Given the description of an element on the screen output the (x, y) to click on. 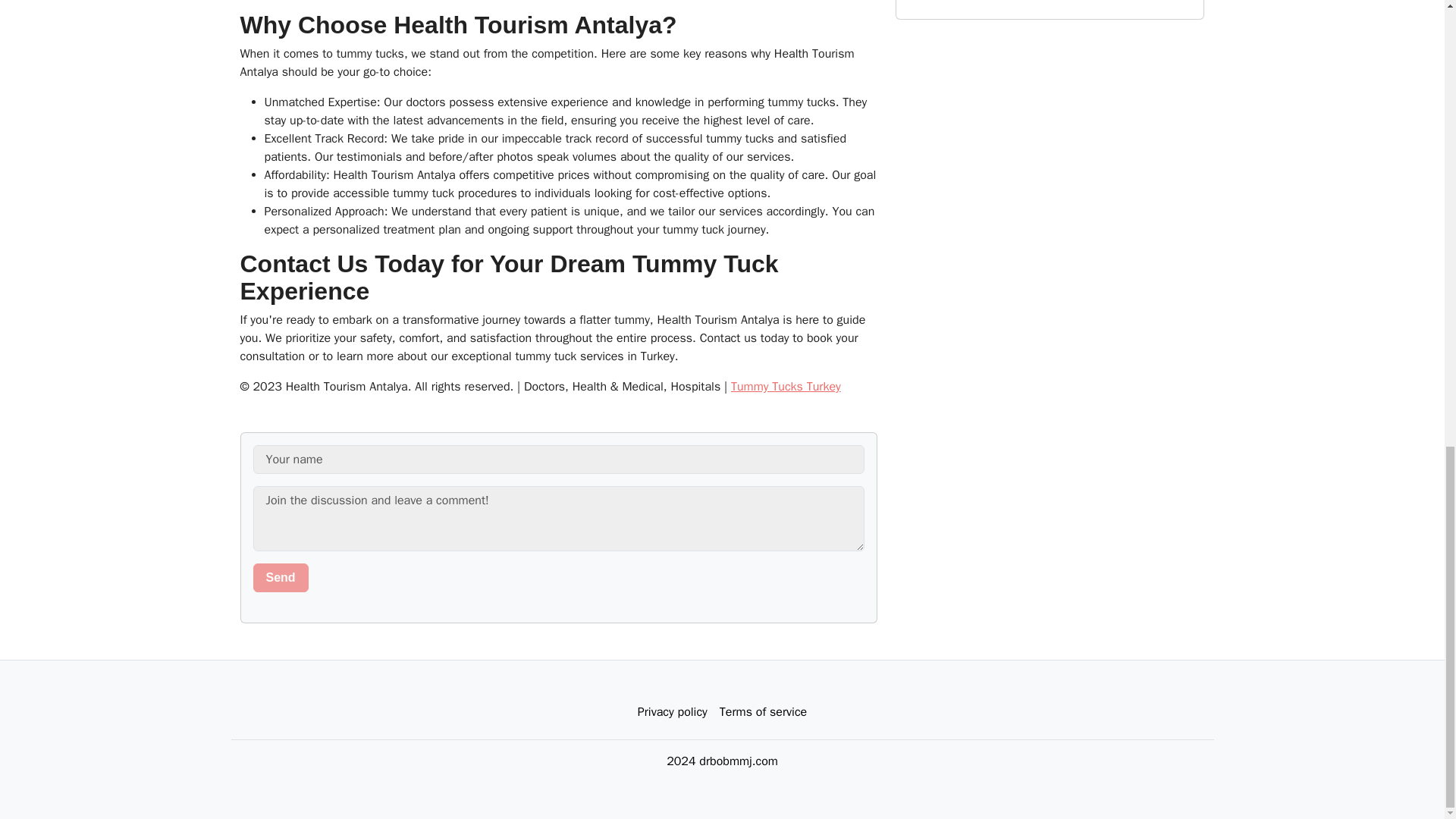
Send (280, 577)
Privacy policy (672, 711)
Terms of service (762, 711)
Tummy Tucks Turkey (785, 386)
Send (280, 577)
